Given the description of an element on the screen output the (x, y) to click on. 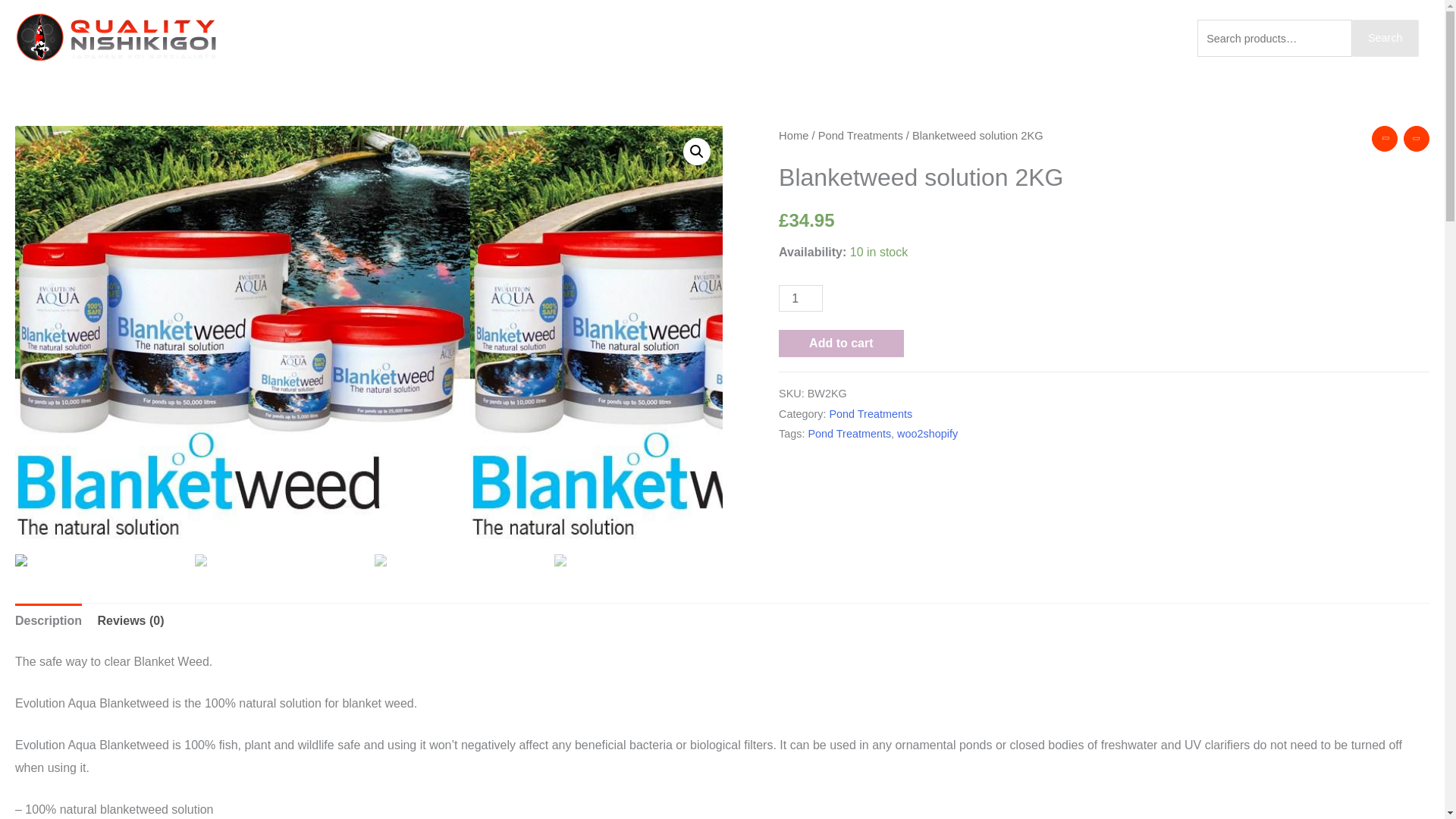
1 (800, 298)
HOME (749, 38)
OUR SERVICES (834, 38)
SHOP (922, 38)
Qty (800, 298)
BLOG (984, 38)
